Given the description of an element on the screen output the (x, y) to click on. 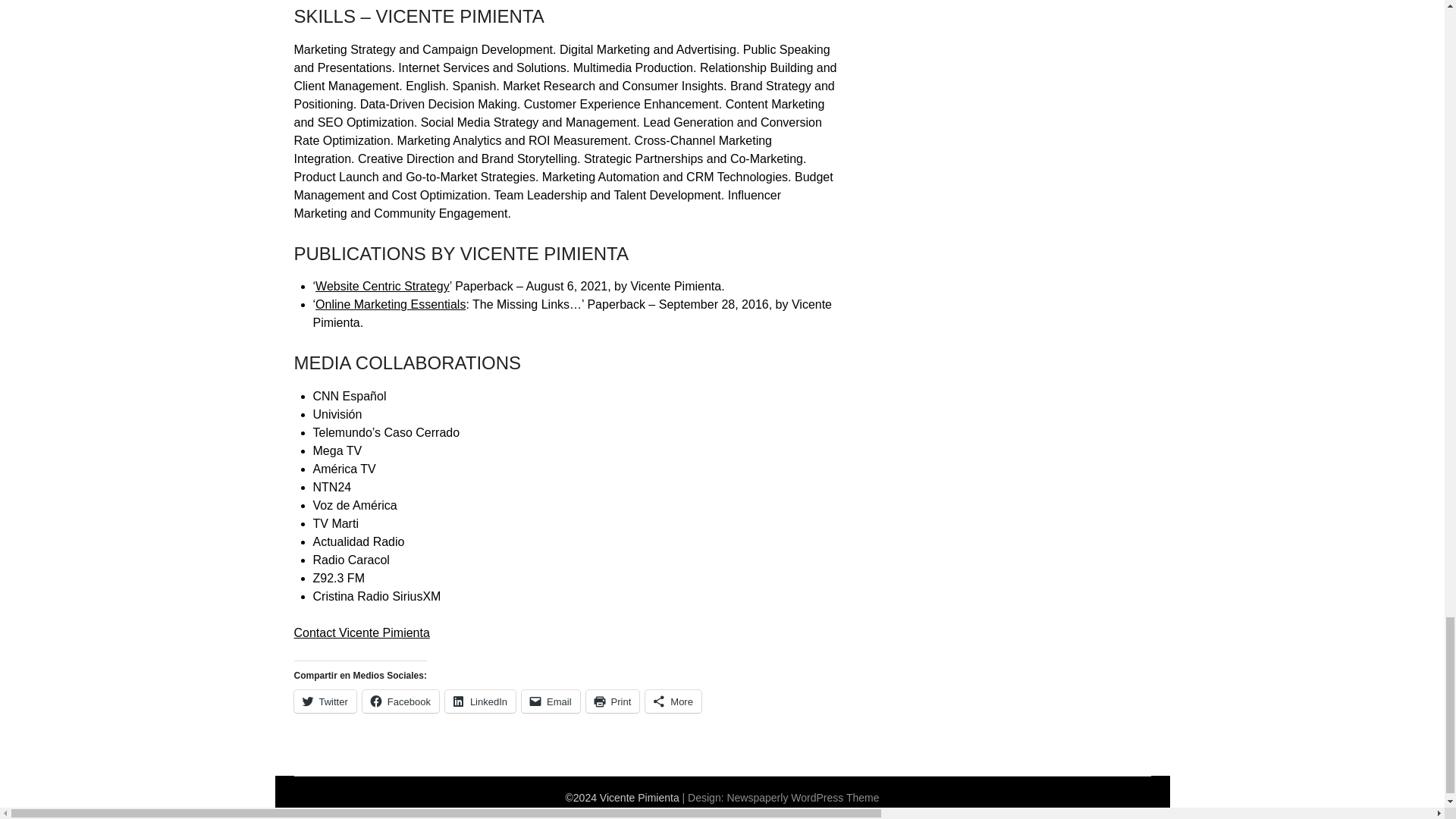
Click to print (613, 701)
More (673, 701)
Website Centric Strategy (382, 286)
Facebook (400, 701)
Contact Vicente Pimienta (361, 632)
LinkedIn (480, 701)
Twitter (325, 701)
Print (613, 701)
Online Marketing Essentials (390, 304)
Click to email a link to a friend (550, 701)
